Given the description of an element on the screen output the (x, y) to click on. 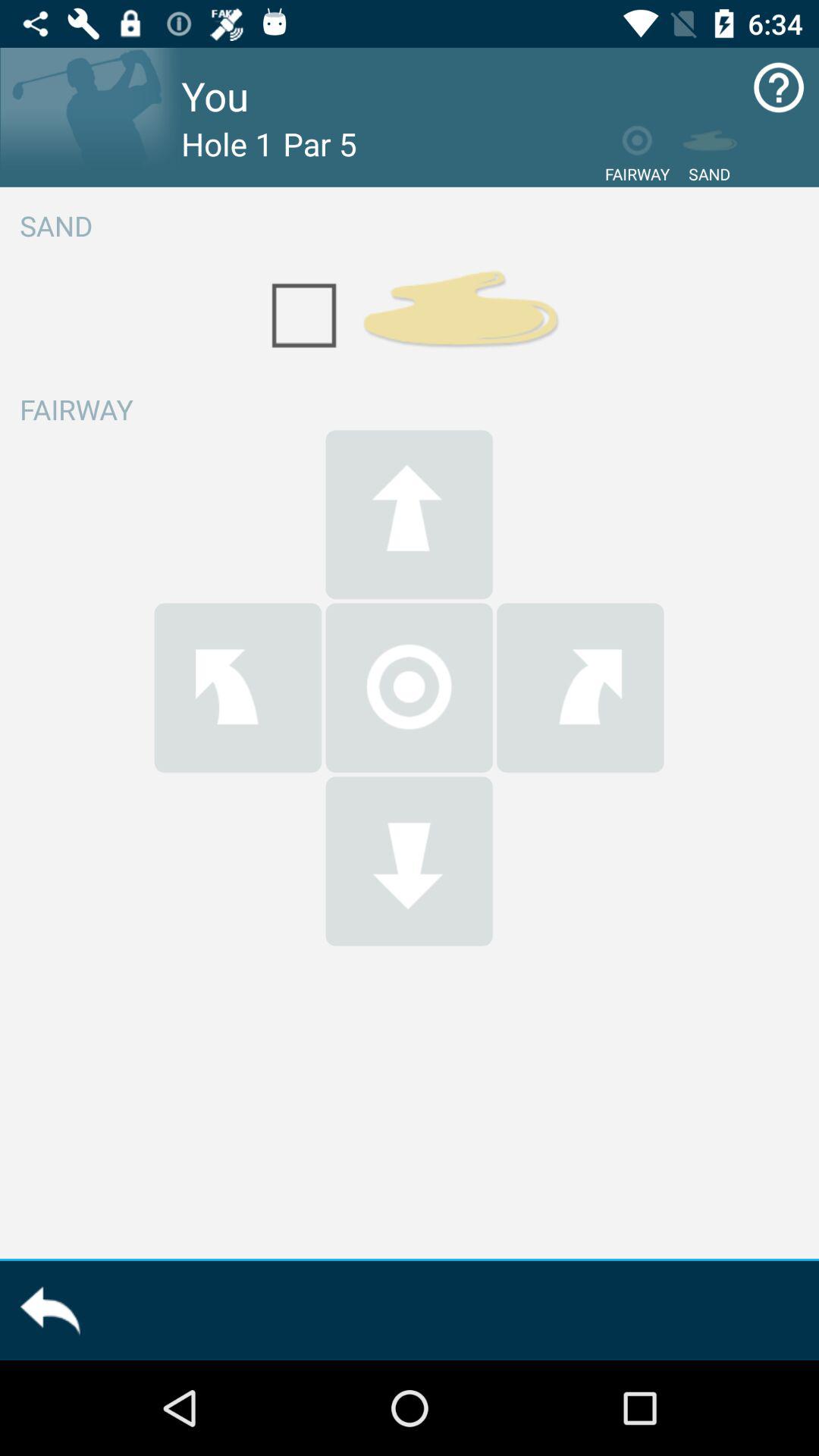
click on the upside arrow (409, 514)
click on the circle between the arrows (409, 687)
click on the icon at top right corner of the page (779, 87)
